Given the description of an element on the screen output the (x, y) to click on. 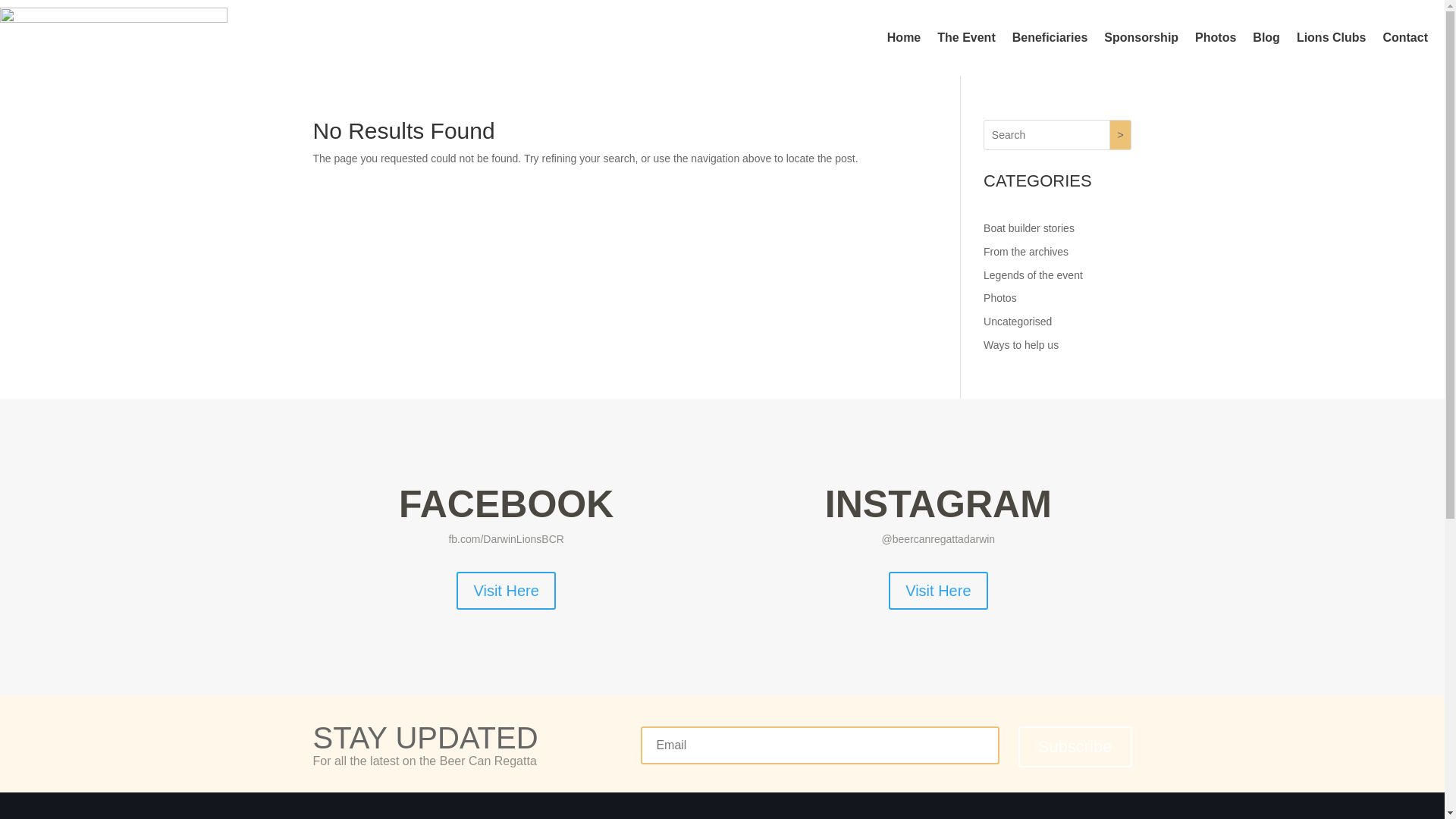
Ways to help us Element type: text (1020, 344)
Lions Clubs Element type: text (1331, 37)
The Event Element type: text (965, 37)
Subscribe Element type: text (1074, 747)
Visit Here Element type: text (937, 590)
Sponsorship Element type: text (1141, 37)
Legends of the event Element type: text (1032, 275)
Boat builder stories Element type: text (1028, 228)
Contact Element type: text (1404, 37)
Photos Element type: text (999, 297)
Home Element type: text (903, 37)
Visit Here Element type: text (505, 590)
> Element type: text (1120, 134)
Beneficiaries Element type: text (1050, 37)
Photos Element type: text (1215, 37)
From the archives Element type: text (1025, 251)
Uncategorised Element type: text (1017, 321)
Blog Element type: text (1266, 37)
